Given the description of an element on the screen output the (x, y) to click on. 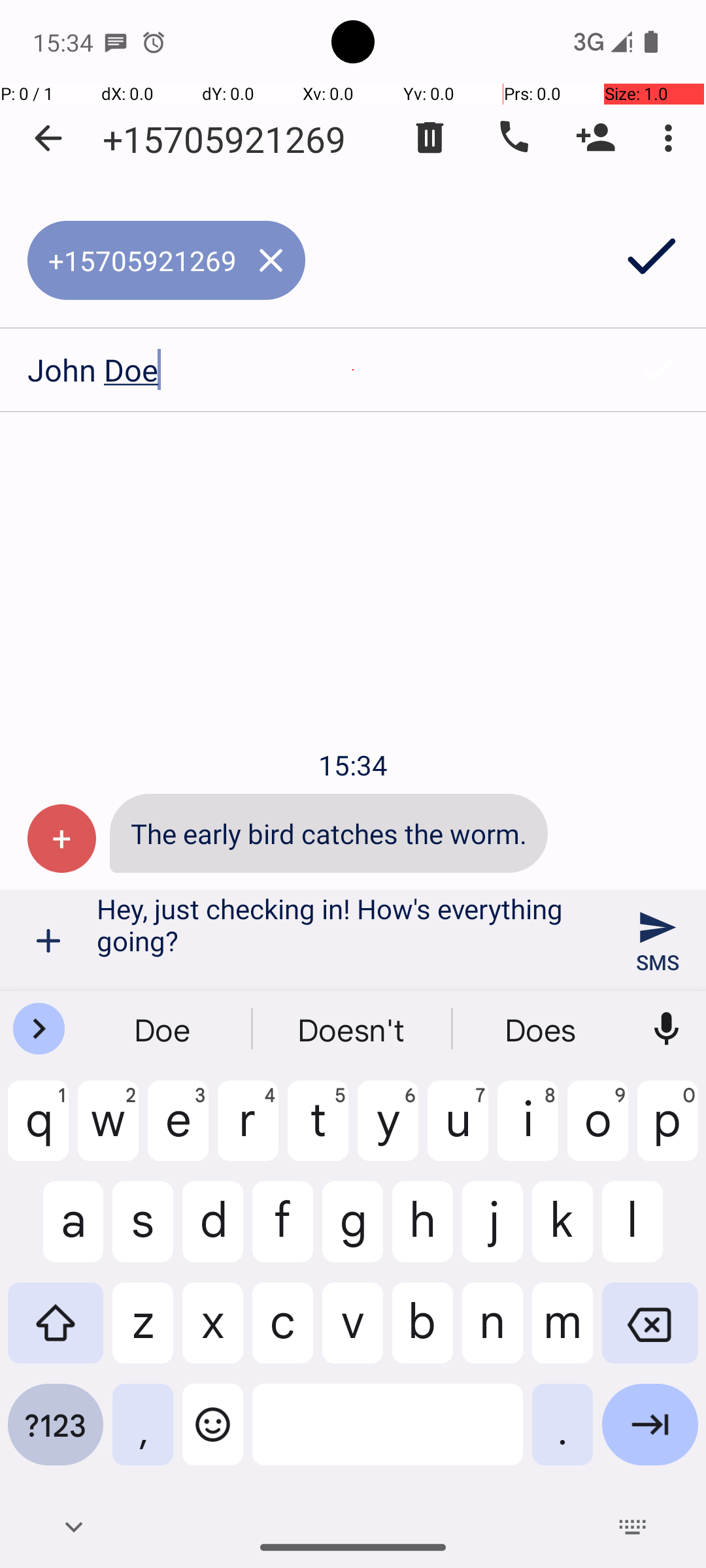
+15705921269 Element type: android.widget.TextView (223, 138)
John Doe Element type: android.widget.AutoCompleteTextView (304, 369)
Confirm selection Element type: android.widget.ImageView (657, 369)
Hey, just checking in! How's everything going?
 Element type: android.widget.EditText (352, 940)
The early bird catches the worm. Element type: android.widget.TextView (328, 832)
Doe Element type: android.widget.FrameLayout (163, 1028)
Doesn't Element type: android.widget.FrameLayout (352, 1028)
Does Element type: android.widget.FrameLayout (541, 1028)
